Given the description of an element on the screen output the (x, y) to click on. 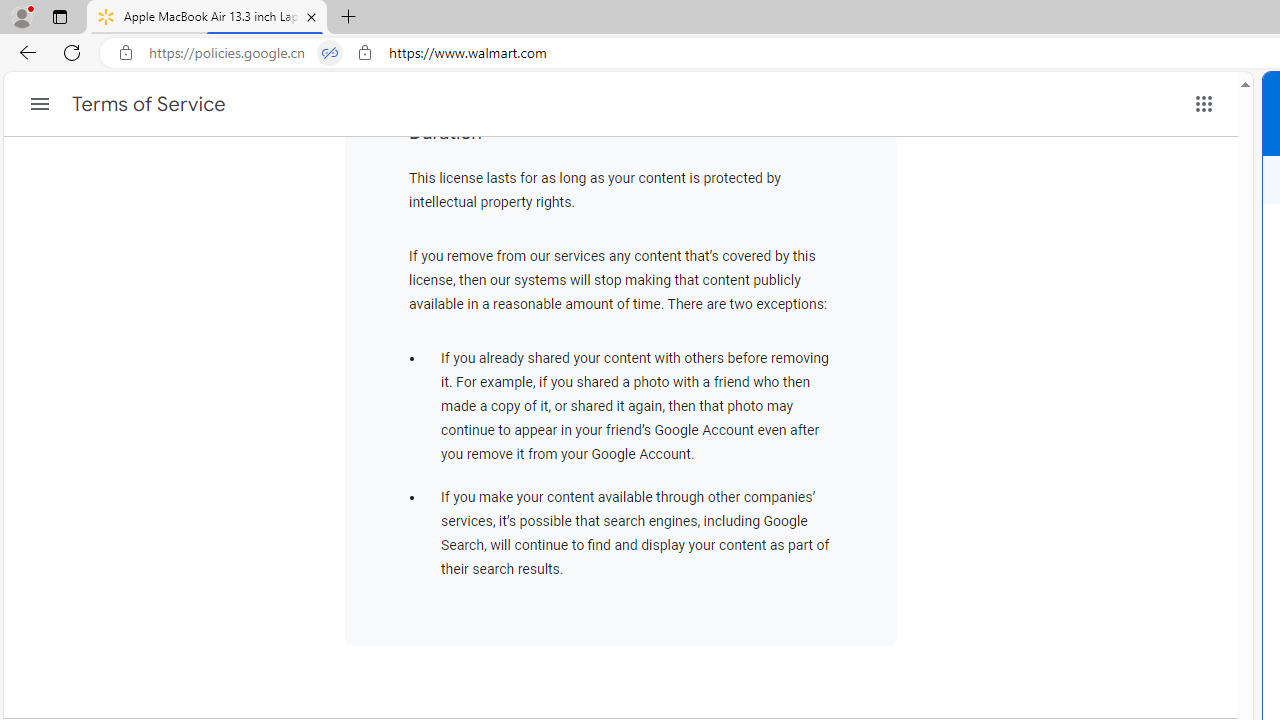
Tabs in split screen (330, 53)
